Given the description of an element on the screen output the (x, y) to click on. 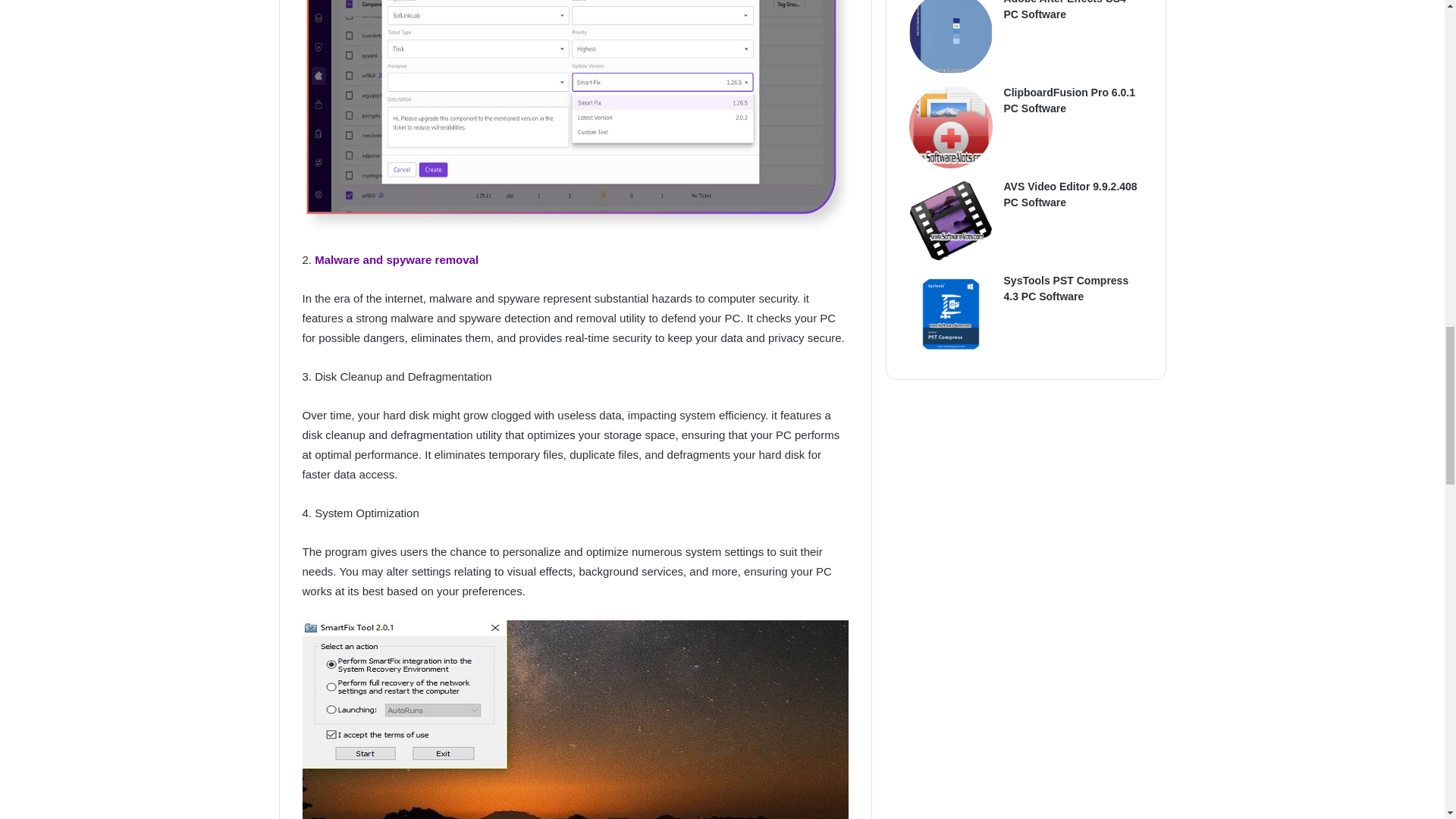
SmartFix Tool 2023 PC Software with patch (574, 115)
Malware and spyware removal (395, 259)
SmartFix Tool 2023 PC Software with keygen (574, 719)
